Given the description of an element on the screen output the (x, y) to click on. 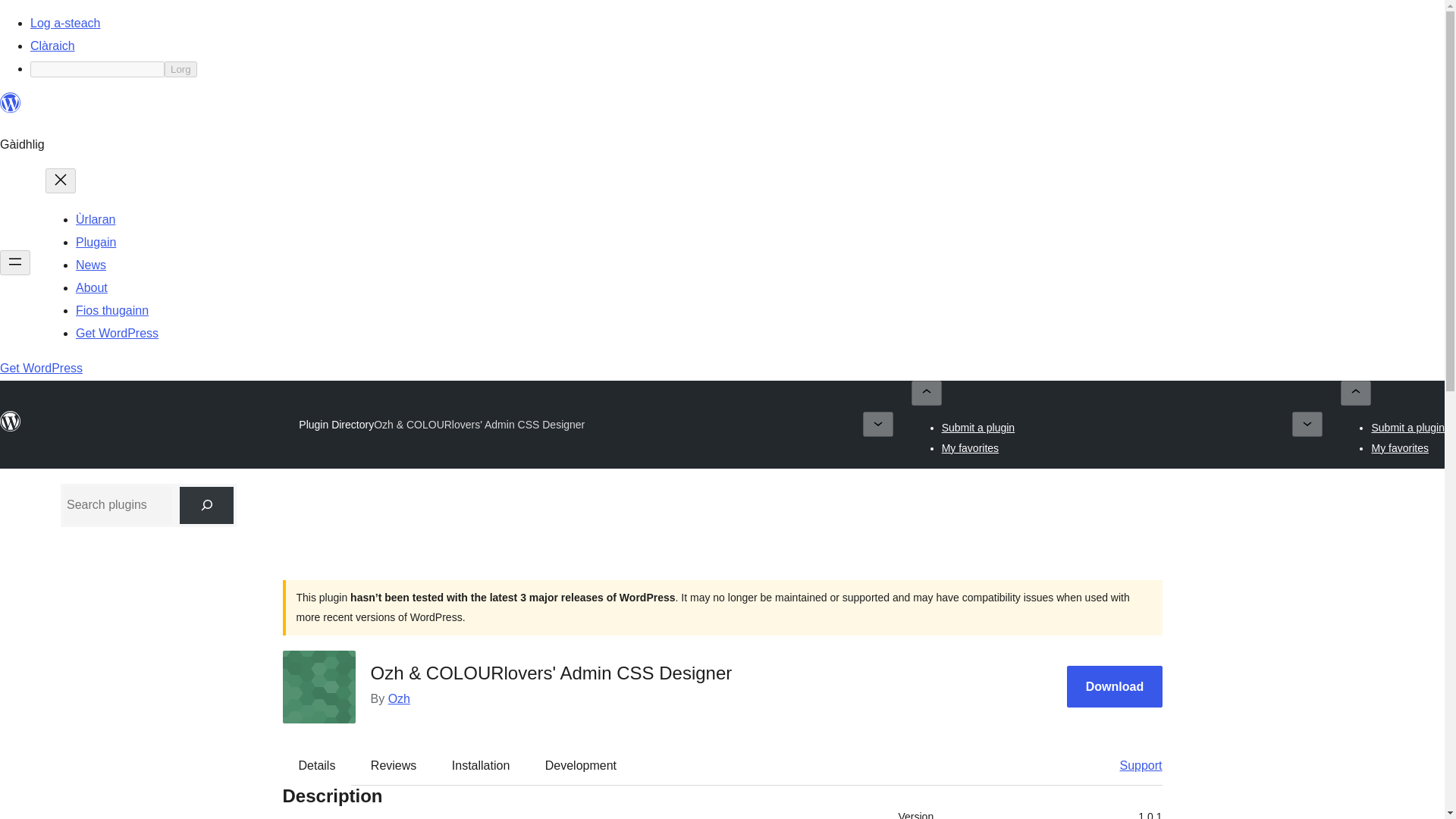
Details (316, 765)
Plugin Directory (336, 424)
WordPress.org (10, 421)
Plugain (95, 241)
Log a-steach (65, 22)
WordPress.org (10, 428)
Development (580, 765)
Ozh (399, 698)
News (90, 264)
WordPress.org (10, 102)
My favorites (1399, 447)
About (91, 287)
My favorites (970, 447)
Installation (480, 765)
Reviews (392, 765)
